Given the description of an element on the screen output the (x, y) to click on. 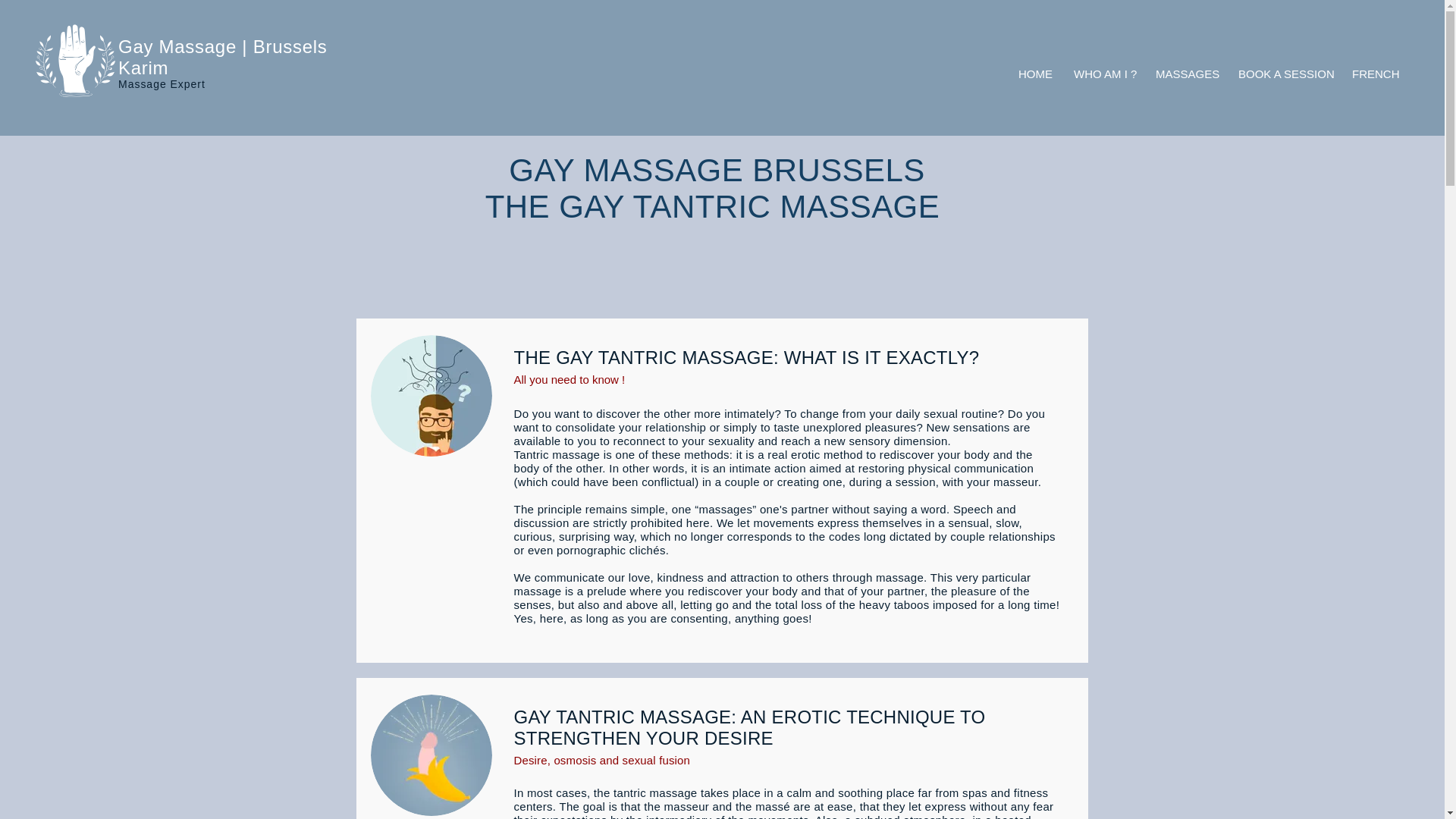
FRENCH (1373, 74)
WHO AM I ? (1103, 74)
HOME (1034, 74)
Tantric Gay Massage Brussels (430, 395)
Massage Expert (161, 83)
Tantric Gay Massage Brussels (430, 754)
BOOK A SESSION (1283, 74)
